Given the description of an element on the screen output the (x, y) to click on. 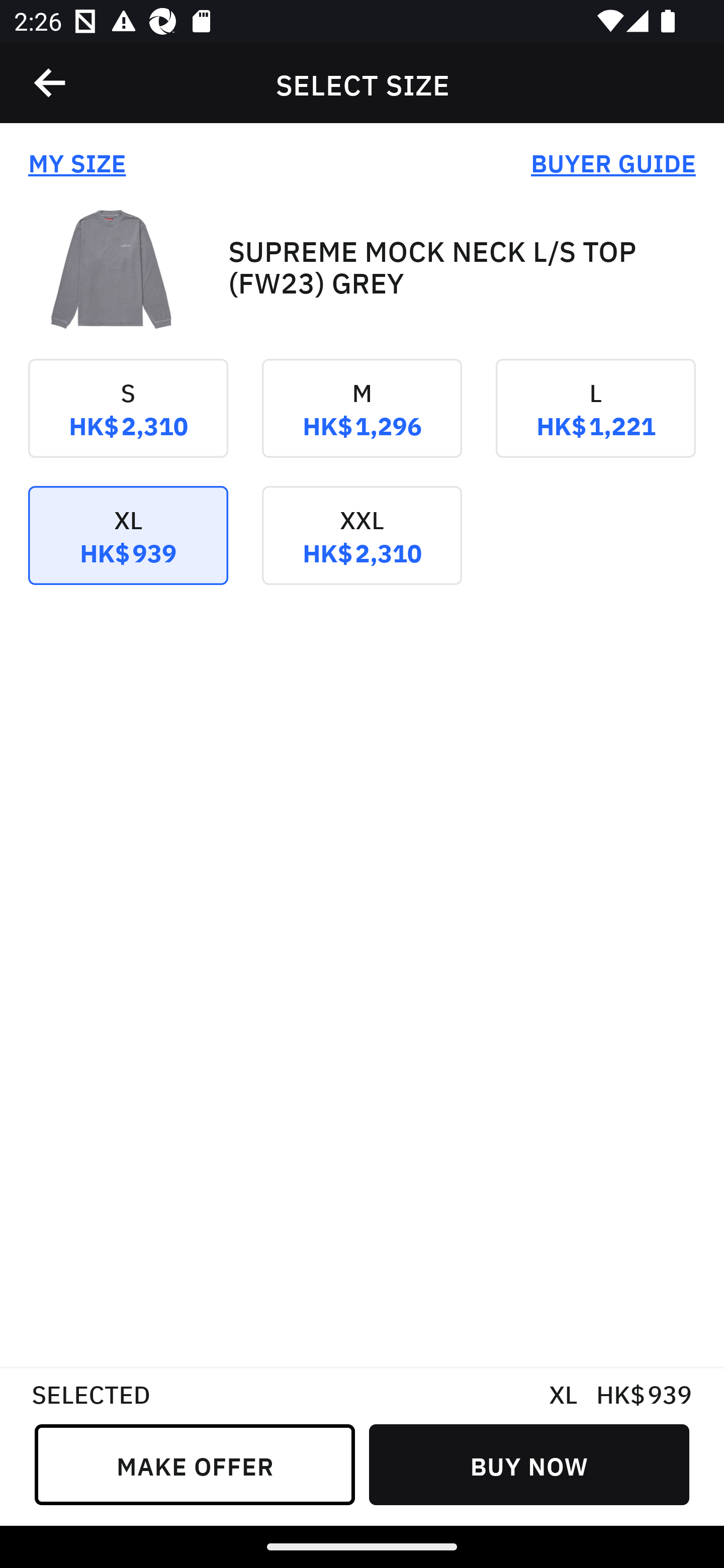
 (50, 83)
S HK$ 2,310 (128, 422)
M HK$ 1,296 (361, 422)
L HK$ 1,221 (595, 422)
XL HK$ 939 (128, 549)
XXL HK$ 2,310 (361, 549)
MAKE OFFER (194, 1464)
BUY NOW (529, 1464)
